Given the description of an element on the screen output the (x, y) to click on. 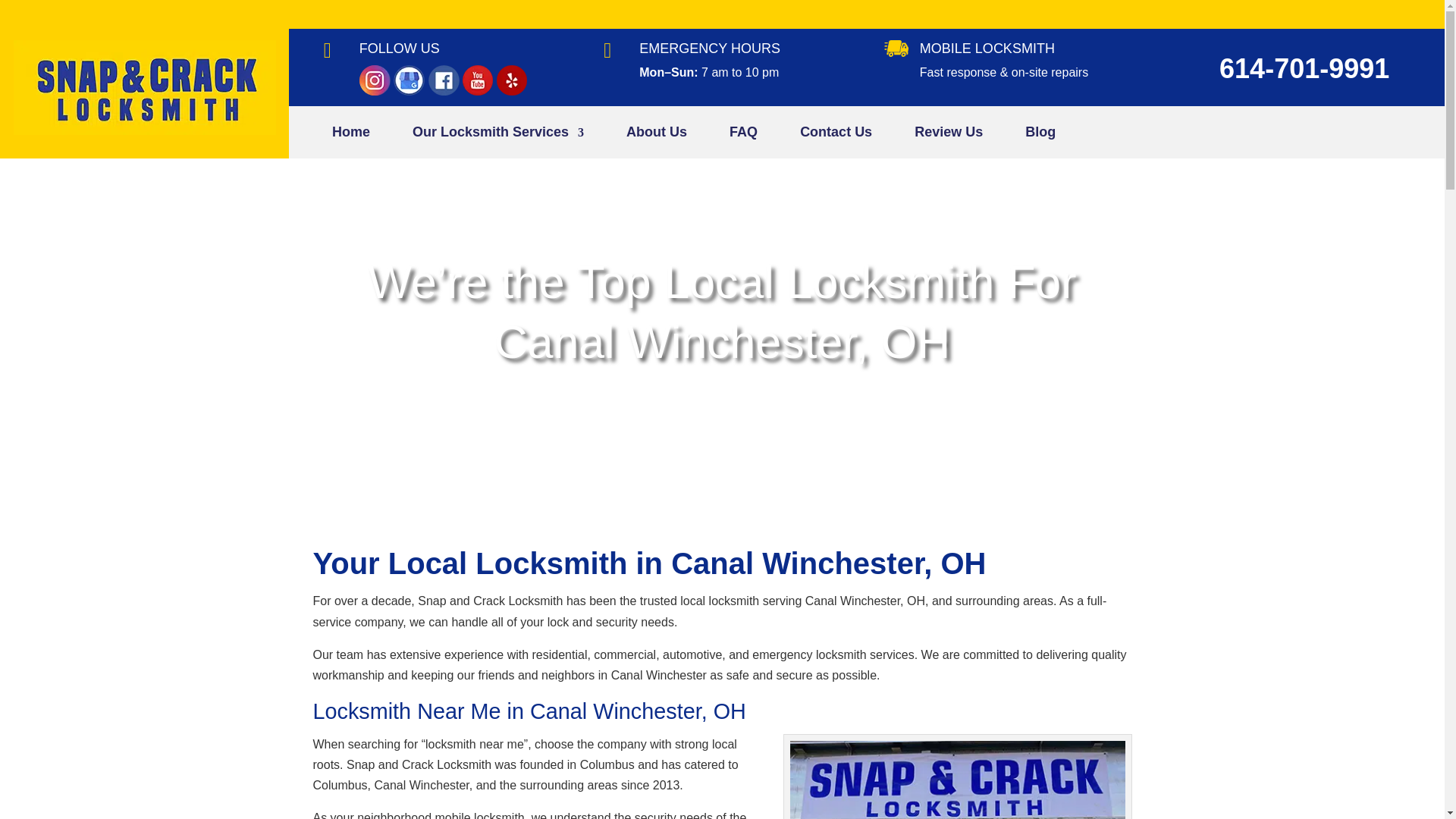
About Us (656, 135)
Our Locksmith Services (497, 135)
Review Us (948, 135)
Home (350, 135)
Blog (1040, 135)
Contact Us (835, 135)
FAQ (743, 135)
logo-yellow (144, 130)
